Given the description of an element on the screen output the (x, y) to click on. 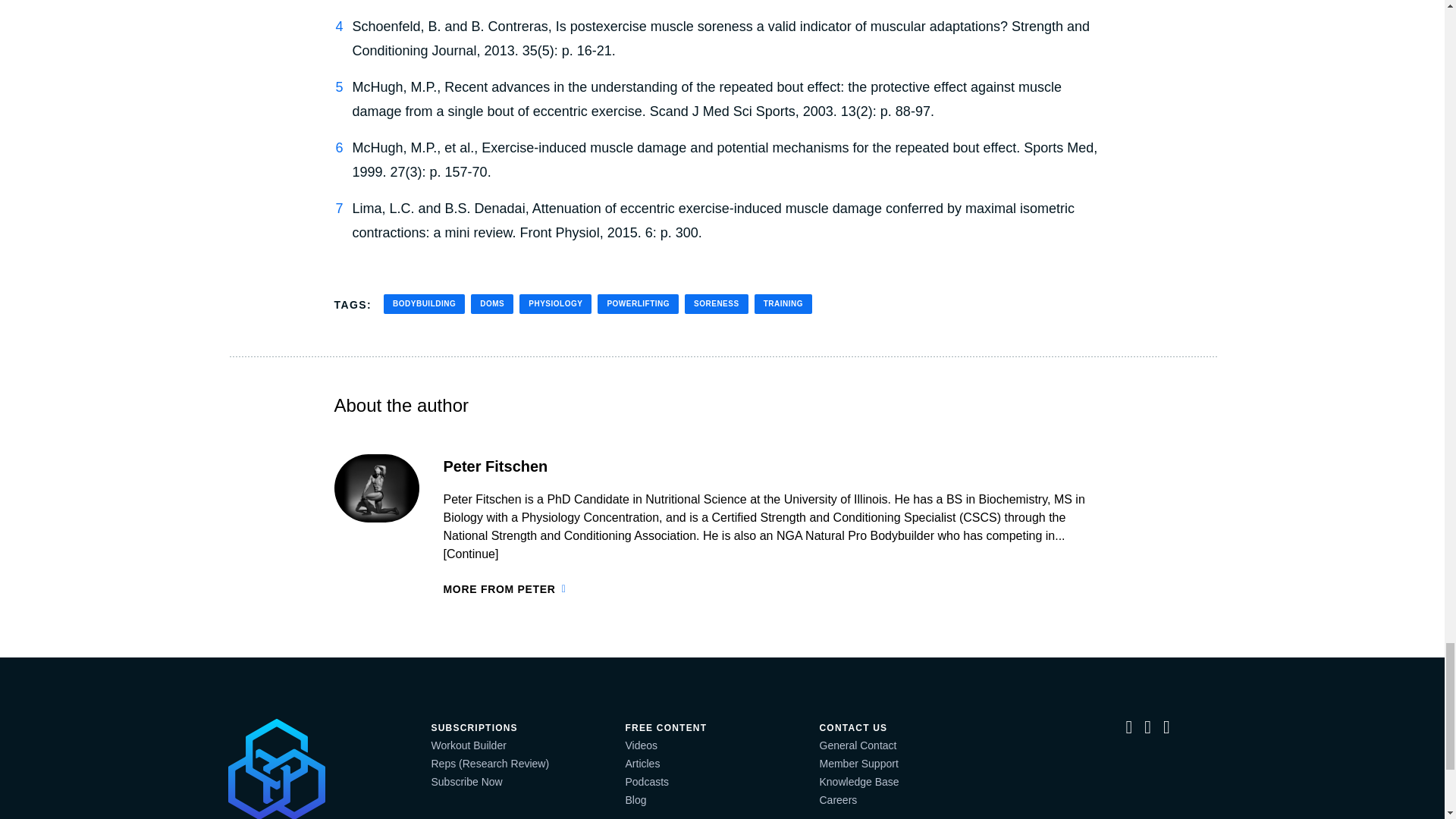
DOMS (491, 303)
Articles (641, 763)
General Contact (857, 745)
Podcasts (646, 781)
TRAINING (783, 303)
Blog (635, 799)
Member Support (858, 763)
Videos (641, 745)
Workout Builder (467, 745)
SORENESS (716, 303)
